Given the description of an element on the screen output the (x, y) to click on. 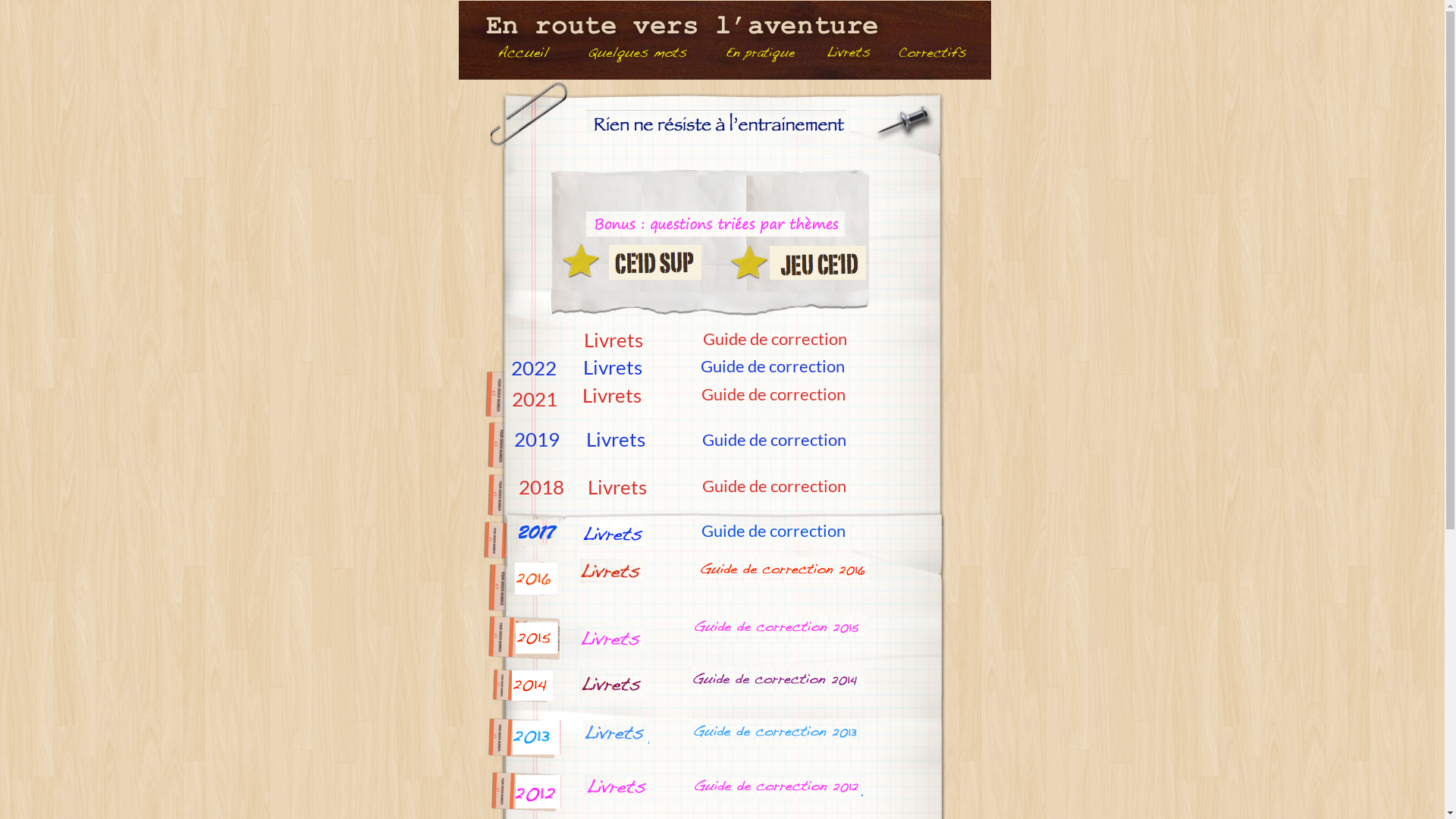
Livrets Element type: text (614, 438)
Guide de correction Element type: text (772, 365)
Livrets Element type: text (611, 394)
Guide de correction Element type: text (774, 439)
Livrets Element type: text (616, 486)
Livrets Element type: text (613, 339)
Livrets Element type: text (611, 366)
Guide de correction Element type: text (774, 485)
Guide de correction Element type: text (772, 393)
Guide de correction Element type: text (772, 530)
Guide de correction Element type: text (774, 338)
